Given the description of an element on the screen output the (x, y) to click on. 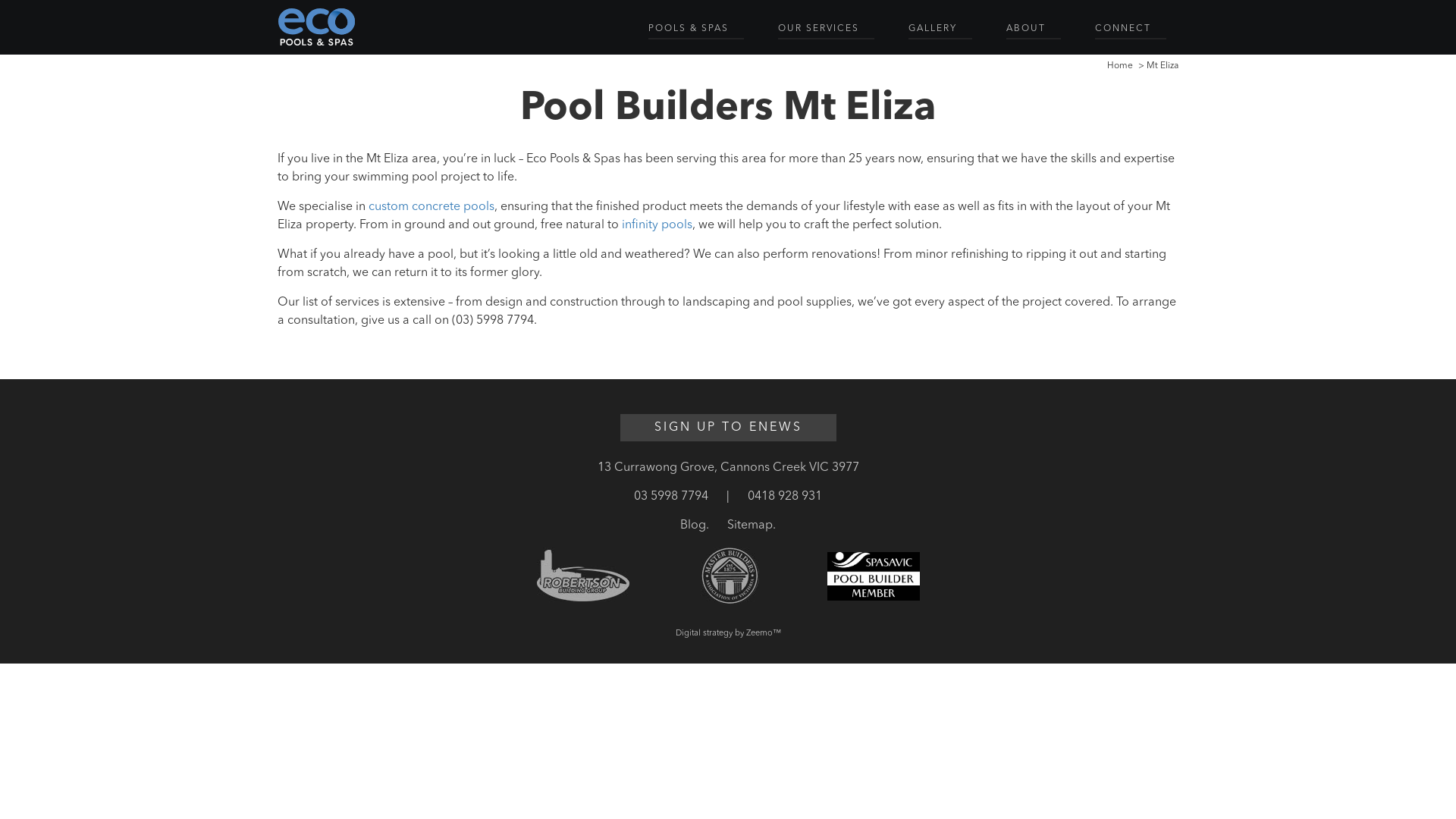
OUR SERVICES Element type: text (826, 29)
Sitemap. Element type: text (751, 525)
Eco Pools & Spas Element type: hover (316, 26)
Home Element type: text (1119, 65)
ABOUT Element type: text (1033, 29)
Zeemo Element type: text (759, 633)
CONNECT Element type: text (1130, 29)
custom concrete pools Element type: text (431, 206)
SIGN UP TO ENEWS Element type: text (728, 427)
Blog. Element type: text (694, 525)
GALLERY Element type: text (940, 29)
POOLS & SPAS Element type: text (695, 29)
infinity pools Element type: text (656, 225)
